Given the description of an element on the screen output the (x, y) to click on. 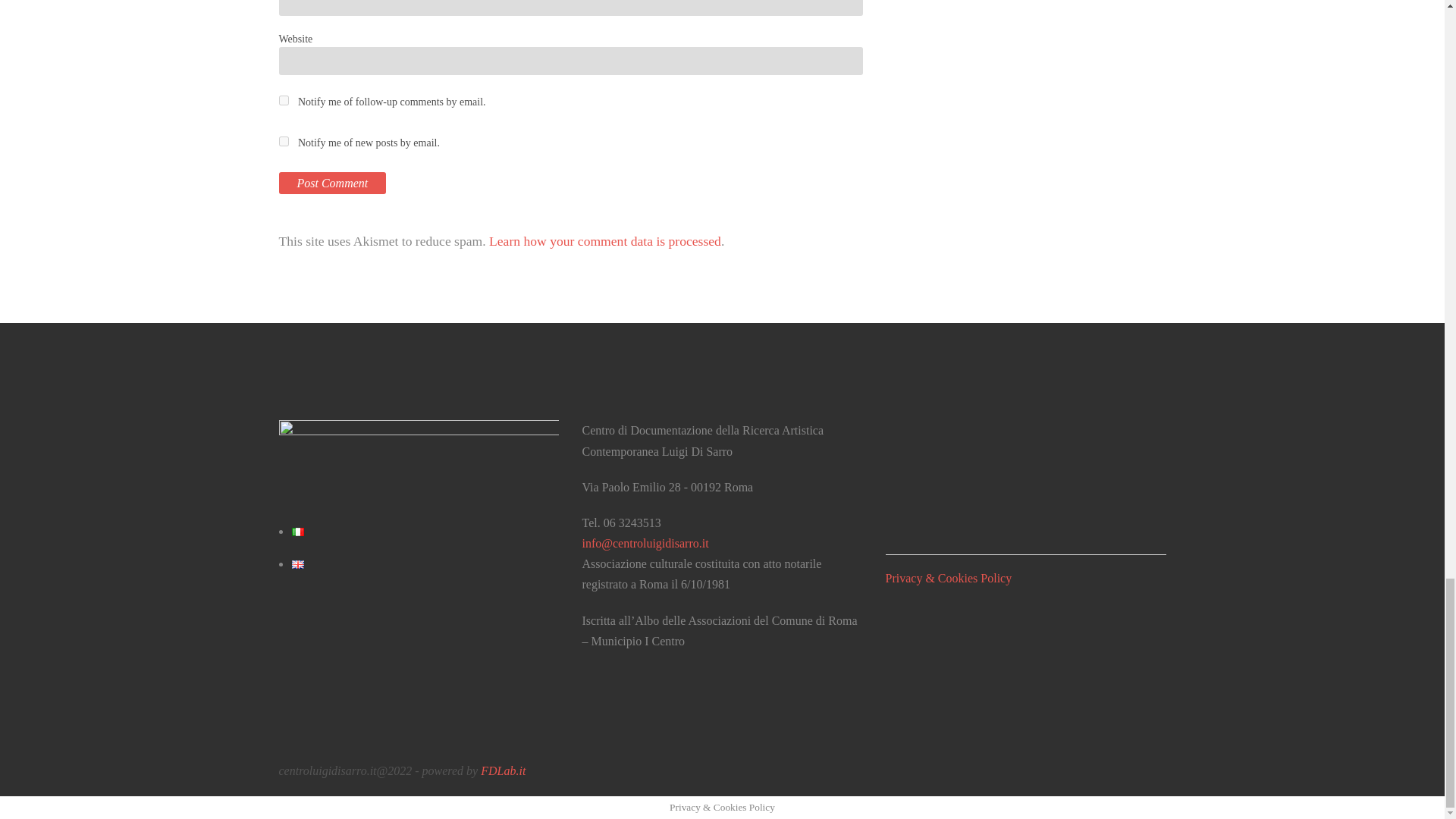
subscribe (283, 141)
Post Comment (333, 182)
subscribe (283, 100)
